Given the description of an element on the screen output the (x, y) to click on. 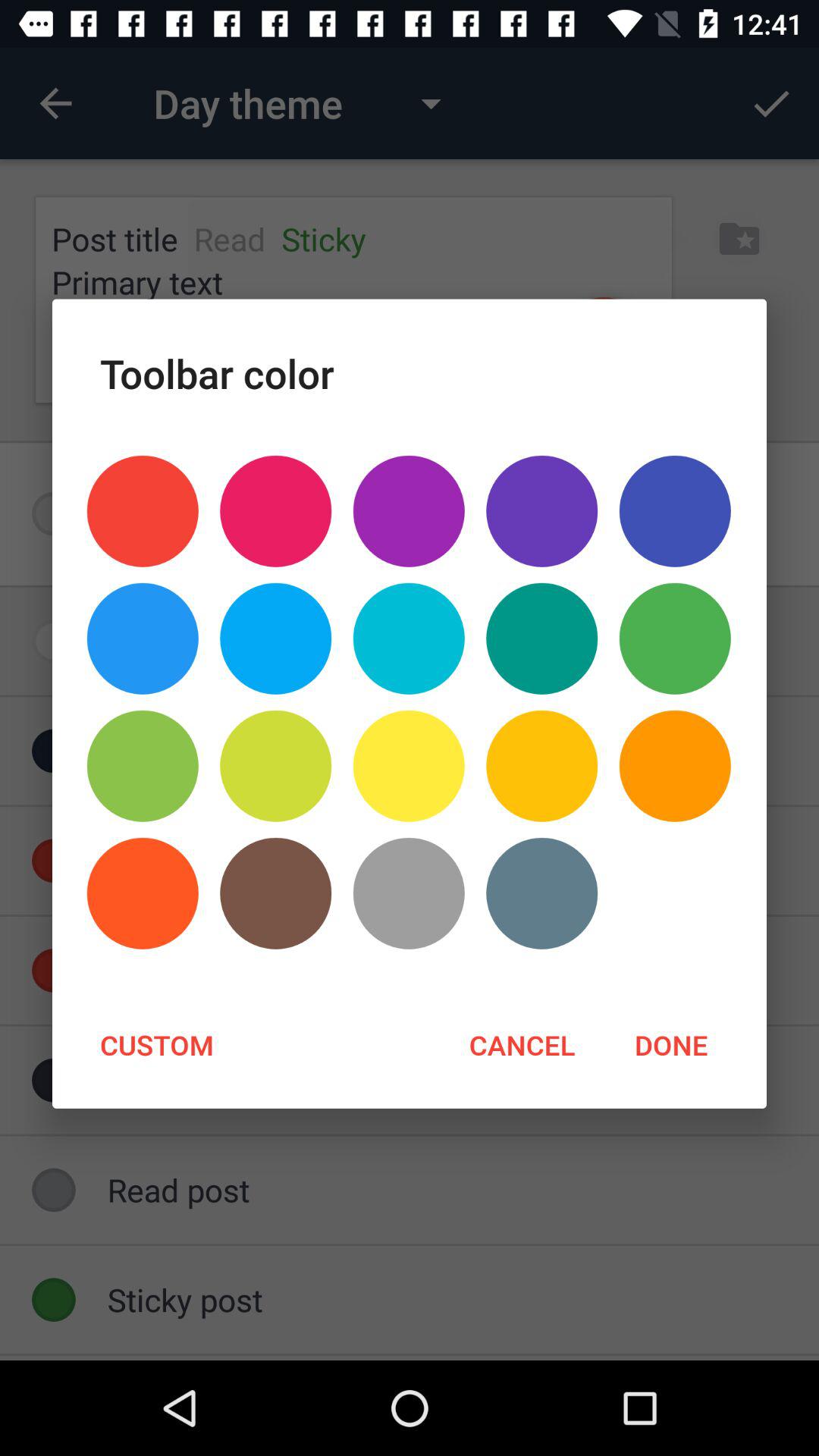
turn off the item to the right of the cancel icon (670, 1044)
